Given the description of an element on the screen output the (x, y) to click on. 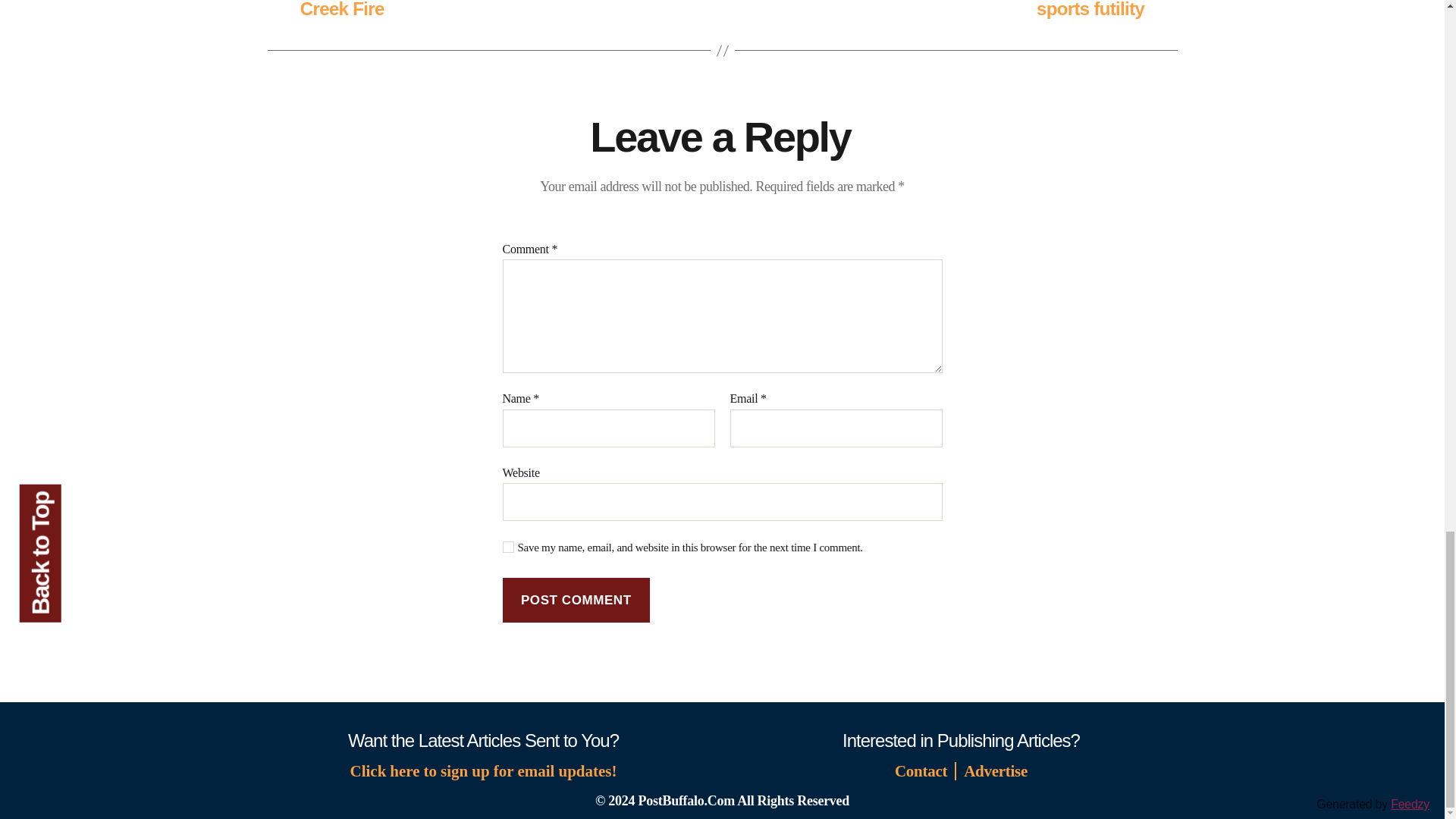
Advertise (994, 771)
Post Comment (575, 600)
Post Comment (575, 600)
yes (507, 546)
Contact (923, 771)
PostBuffalo.Com (687, 800)
Click here to sign up for email updates! (483, 771)
